Given the description of an element on the screen output the (x, y) to click on. 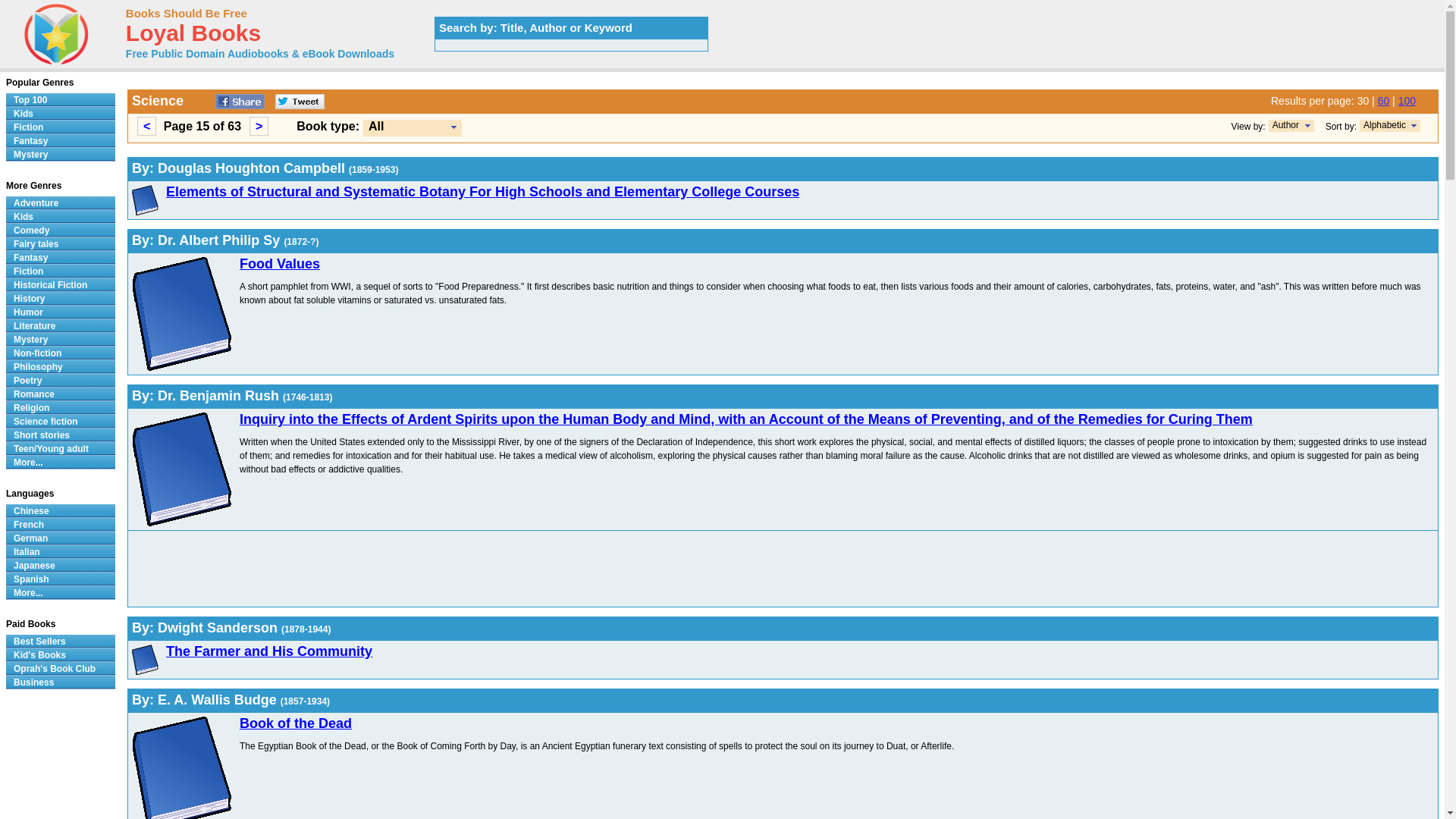
All (411, 127)
Loyal Books (192, 36)
Books Should Be Free (186, 12)
Author (1285, 124)
All (376, 126)
The Farmer and His Community (268, 651)
Alphabetic (1384, 124)
Advertisement (587, 568)
